Given the description of an element on the screen output the (x, y) to click on. 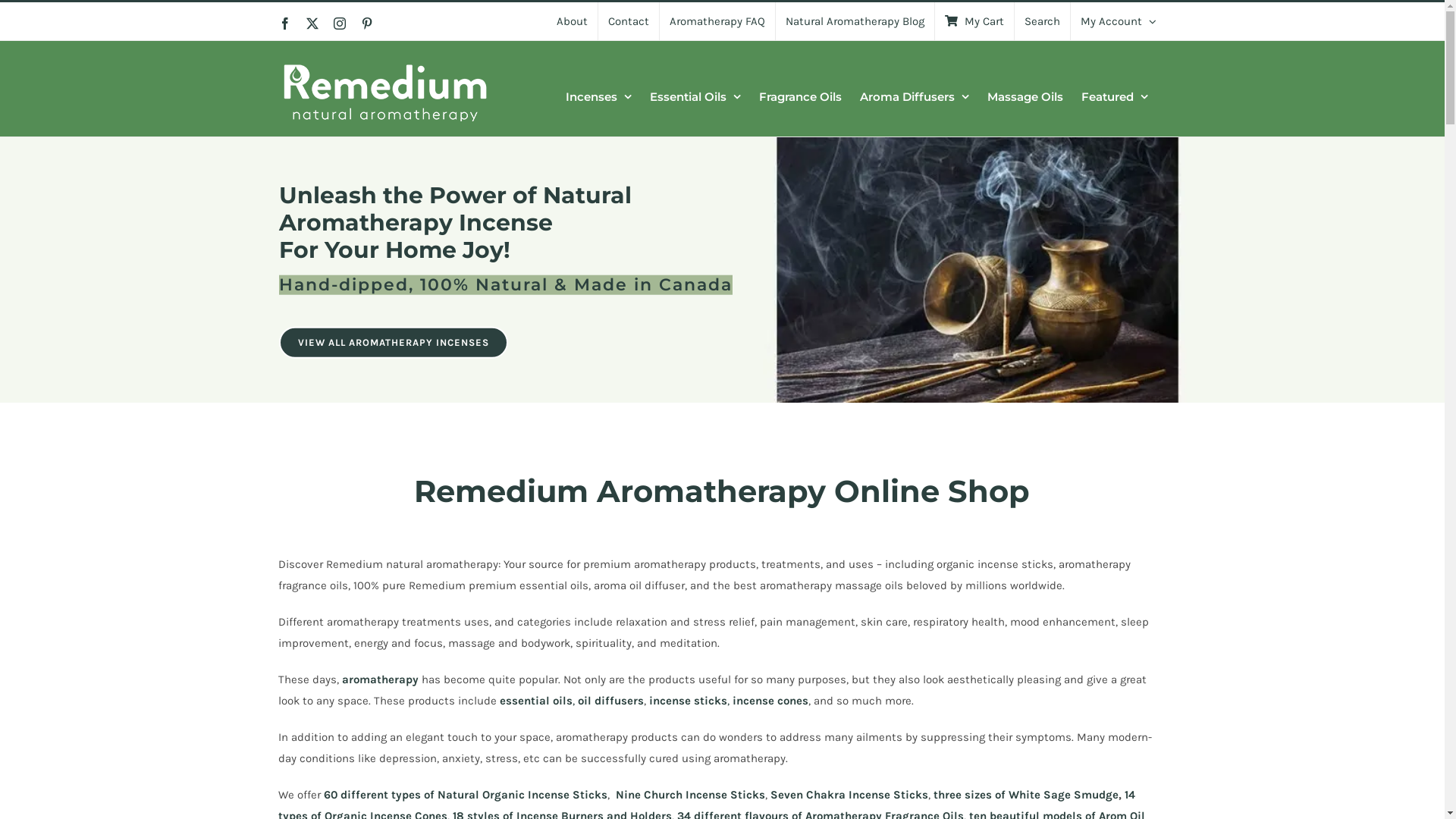
Facebook Element type: text (285, 22)
Nine Church Incense Sticks Element type: text (690, 794)
Incenses Element type: text (598, 96)
Search Element type: text (1042, 21)
Fragrance Oils Element type: text (799, 96)
aromatherapy Element type: text (380, 679)
oil diffusers Element type: text (610, 700)
About Element type: text (571, 21)
VIEW 100% PURE AROMATHERAPY ESSENTIAL OILS Element type: text (428, 328)
Essential Oils Element type: text (694, 96)
essential oils, Element type: text (536, 700)
Twitter Element type: text (312, 22)
60 different types of Natural Organic Incense Sticks Element type: text (465, 794)
Featured Element type: text (1114, 96)
Seven Chakra Incense Sticks Element type: text (849, 794)
Natural Aromatherapy Blog Element type: text (854, 21)
incense cones Element type: text (770, 700)
Aroma Diffusers Element type: text (914, 96)
My Cart Element type: text (973, 21)
Contact Element type: text (627, 21)
Pinterest Element type: text (366, 22)
Massage Oils Element type: text (1025, 96)
Log In Element type: text (1173, 165)
incense sticks, Element type: text (689, 700)
three sizes of White Sage Smudge Element type: text (1025, 794)
Instagram Element type: text (339, 22)
My Account Element type: text (1118, 21)
Aromatherapy FAQ Element type: text (717, 21)
